Given the description of an element on the screen output the (x, y) to click on. 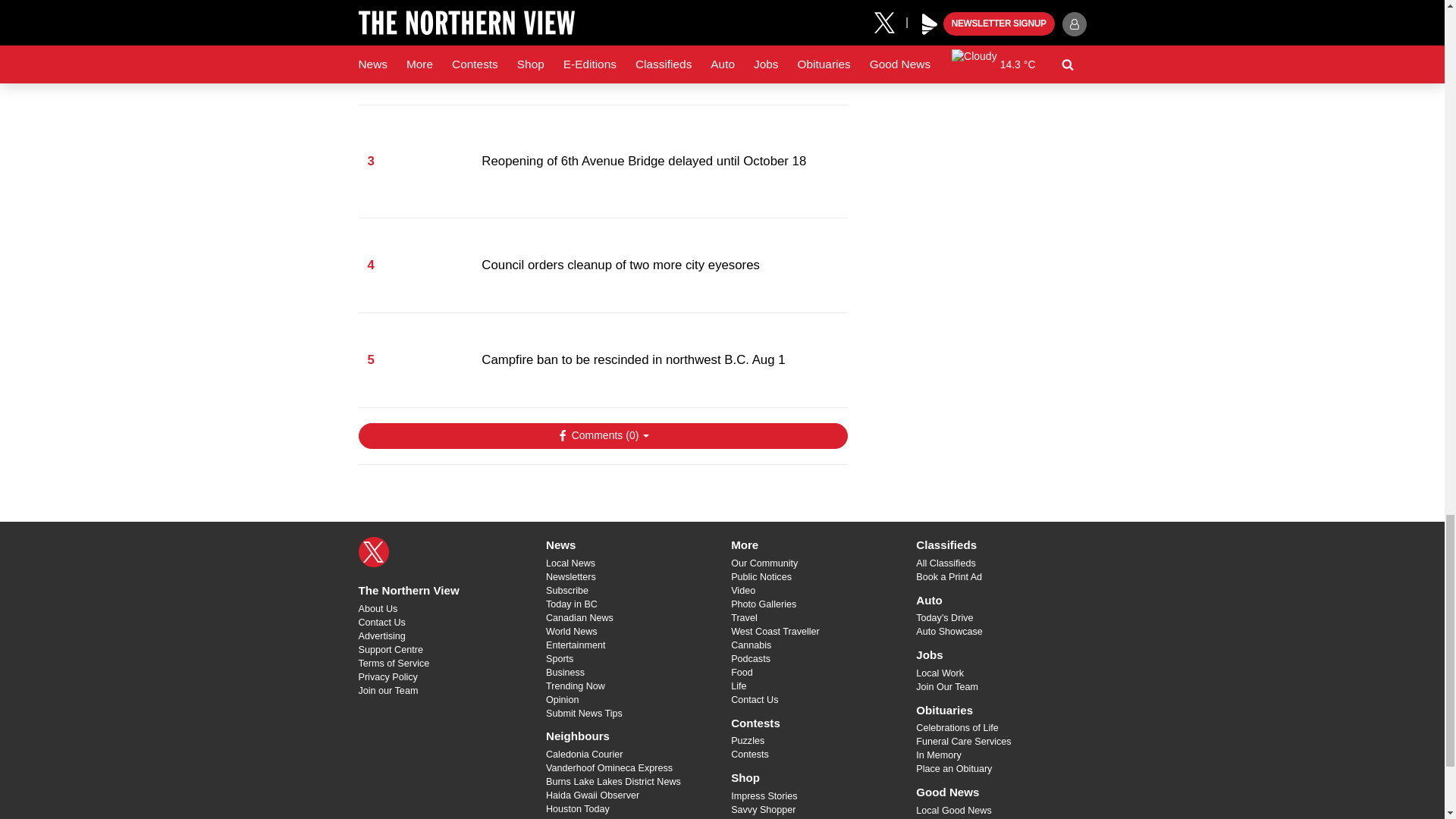
Show Comments (602, 435)
X (373, 552)
